Given the description of an element on the screen output the (x, y) to click on. 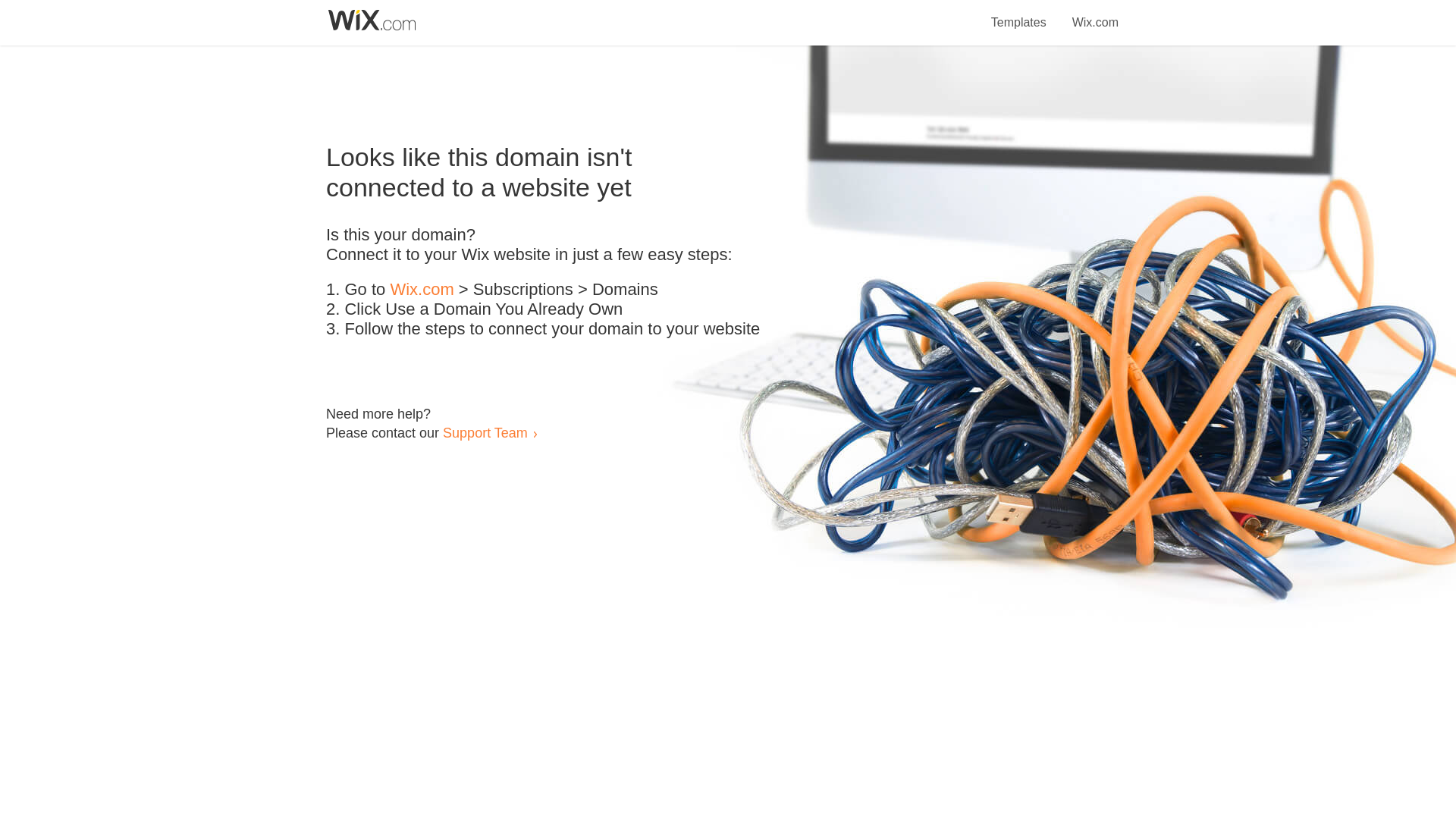
Wix.com (1095, 14)
Wix.com (421, 289)
Support Team (484, 432)
Templates (1018, 14)
